Given the description of an element on the screen output the (x, y) to click on. 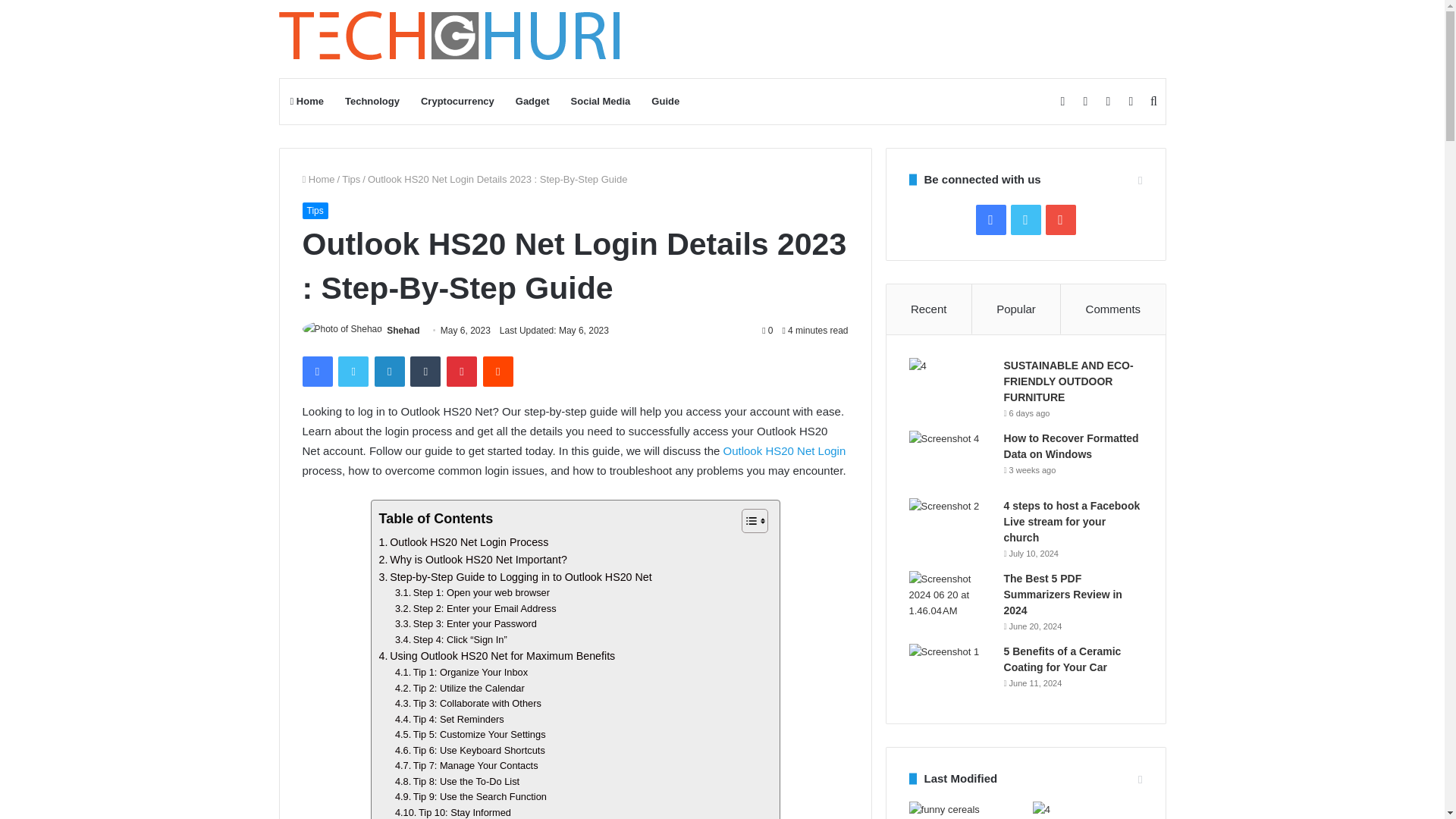
Reddit (498, 371)
Home (317, 179)
Outlook HS20 Net Login (784, 450)
Outlook HS20 Net Login Process (463, 542)
Facebook (316, 371)
Pinterest (461, 371)
Gadget (532, 101)
Tip 2: Utilize the Calendar (459, 688)
Facebook (316, 371)
Shehad (403, 330)
